Given the description of an element on the screen output the (x, y) to click on. 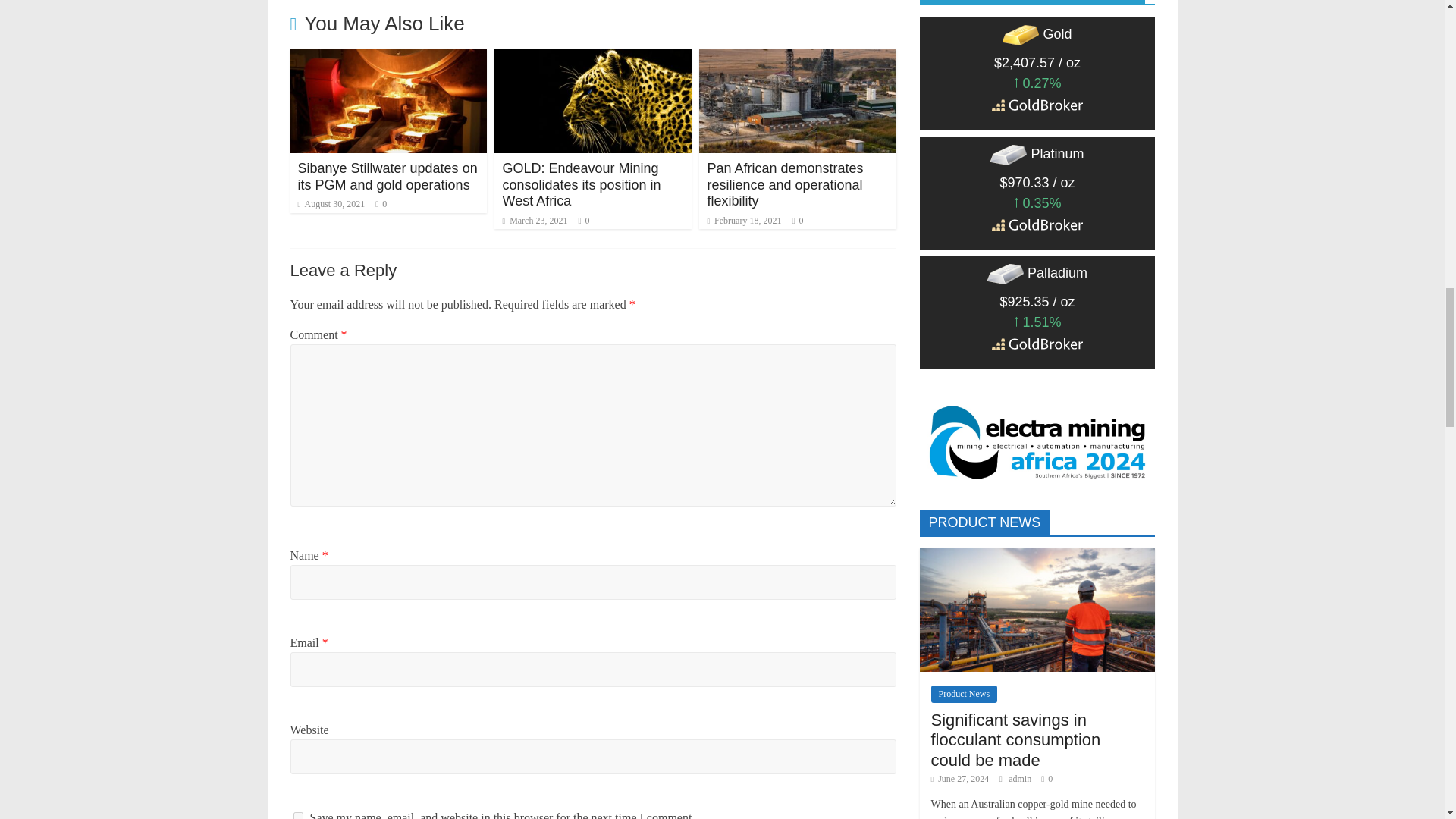
08:39 (331, 204)
Sibanye Stillwater updates on its PGM and gold operations (387, 58)
yes (297, 815)
Sibanye Stillwater updates on its PGM and gold operations (387, 176)
